Given the description of an element on the screen output the (x, y) to click on. 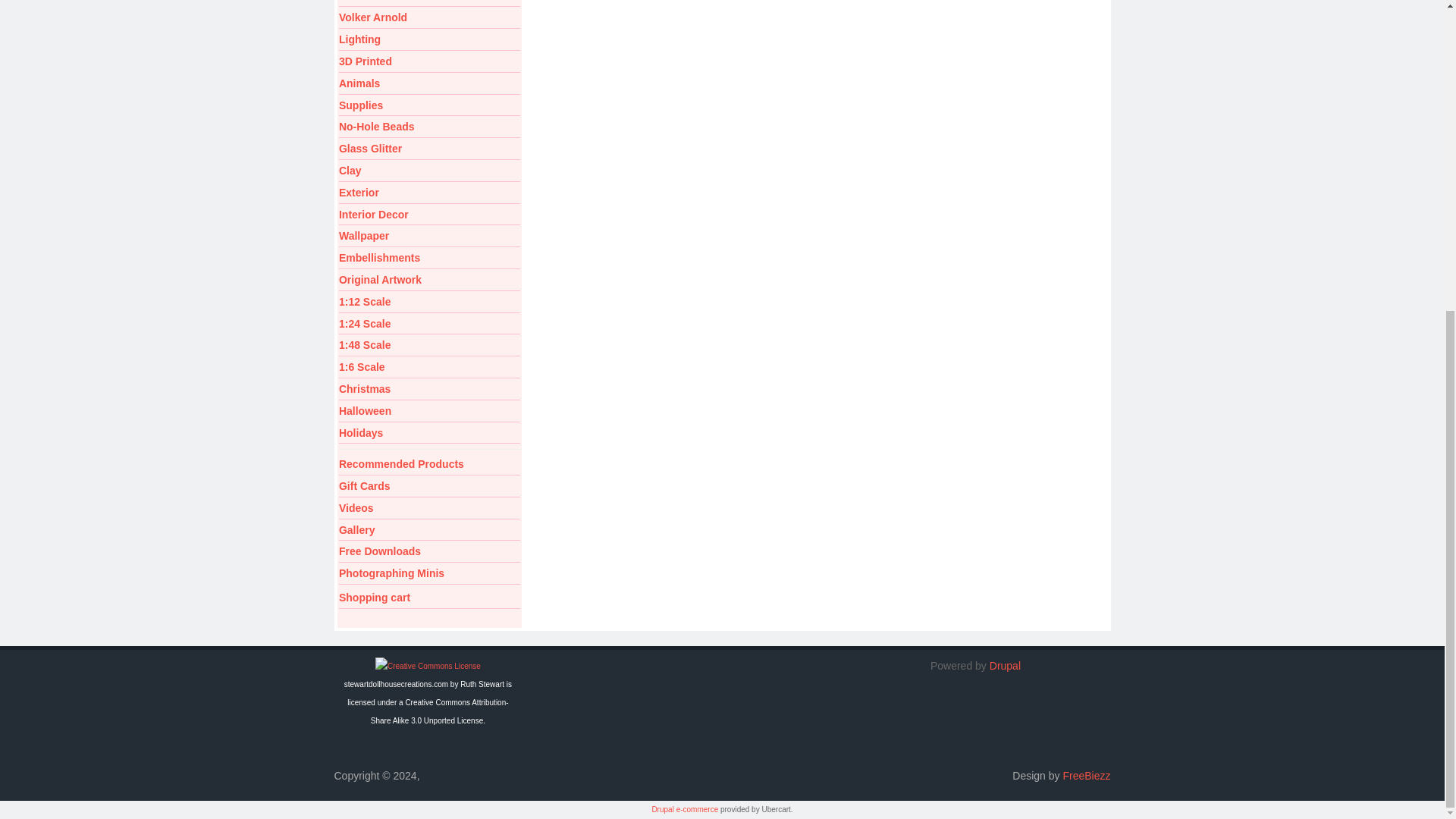
3D Printed (429, 62)
Glass Glitter (429, 149)
Club Kits (429, 3)
Photographing Minis, Home Improvement Seminar-2013 (429, 574)
Volker Arnold (429, 18)
Lighting (429, 40)
Gift Cards (429, 486)
Animals (429, 84)
Supplies (429, 106)
No-Hole Beads (429, 127)
